Given the description of an element on the screen output the (x, y) to click on. 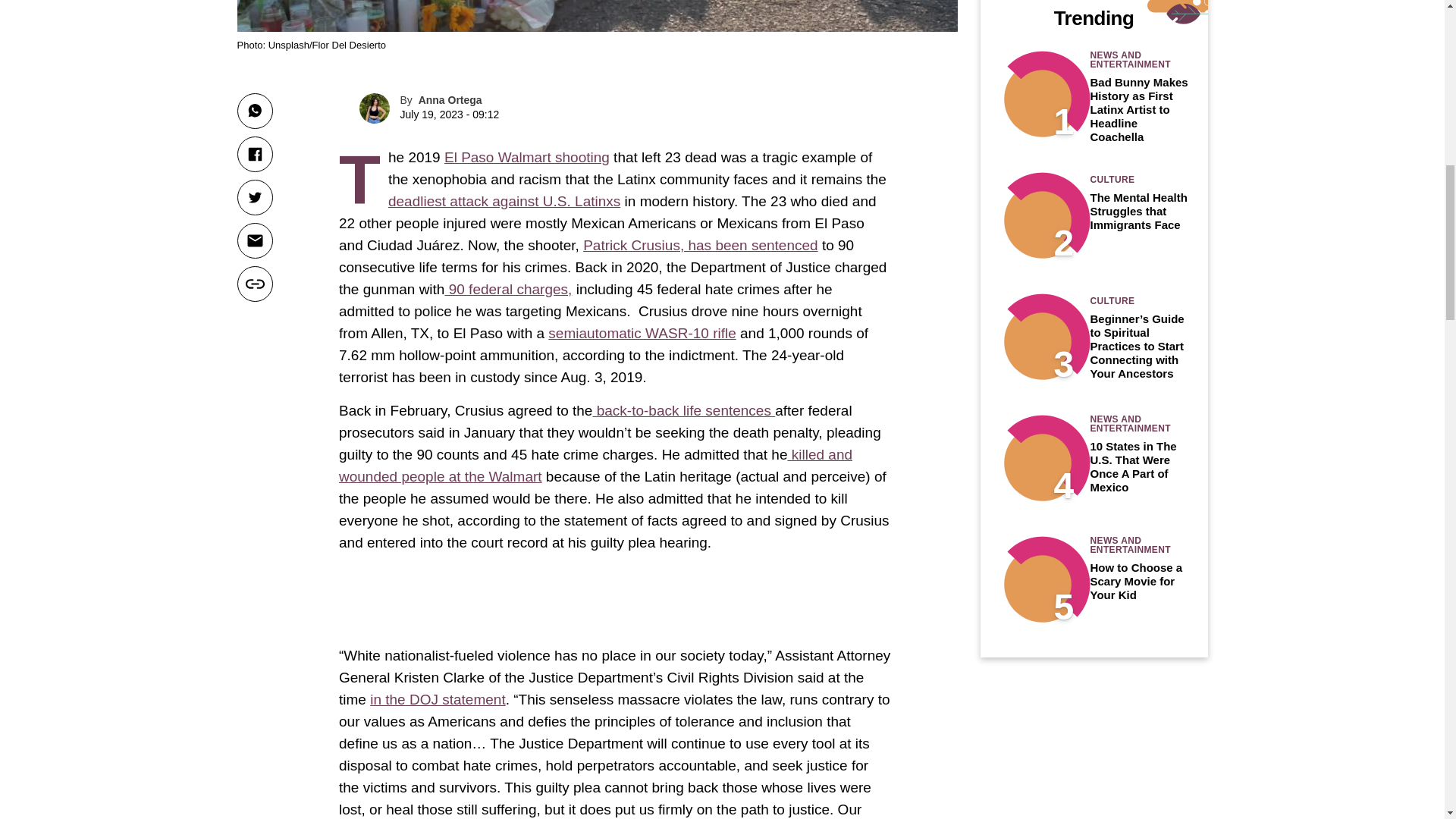
Share this article on WhatsApp (253, 110)
deadliest attack against U.S. Latinxs (504, 201)
Anna Ortega (450, 100)
Share this article on Twitter (253, 197)
Share this article on Facebook (253, 153)
Patrick Crusius, has been sentenced (699, 245)
El Paso Walmart shooting (527, 157)
